Given the description of an element on the screen output the (x, y) to click on. 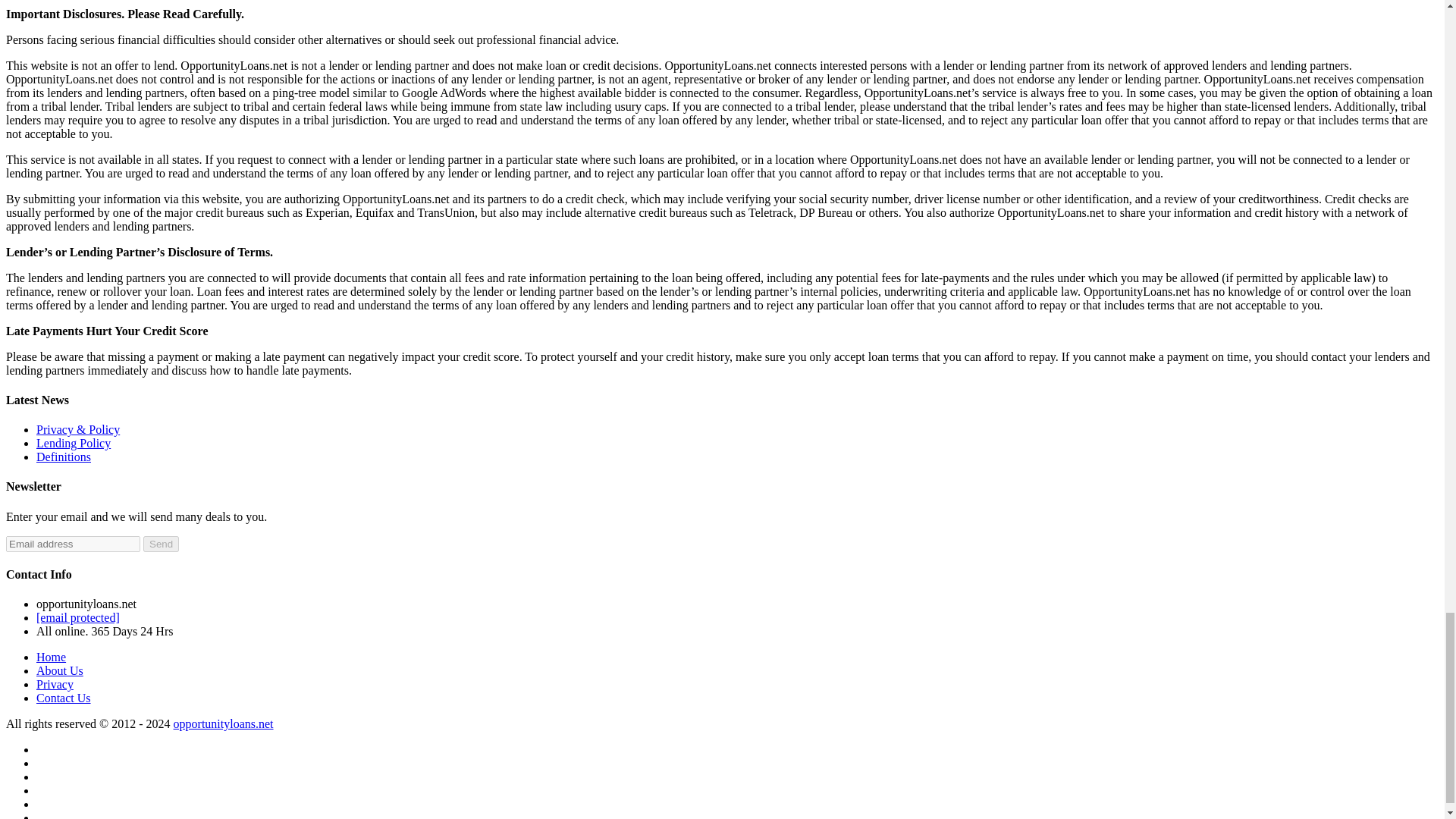
Send (160, 544)
Definitions (63, 456)
Home (50, 656)
Opportunity Loans (223, 723)
Lending Policy (73, 442)
Send (160, 544)
